Given the description of an element on the screen output the (x, y) to click on. 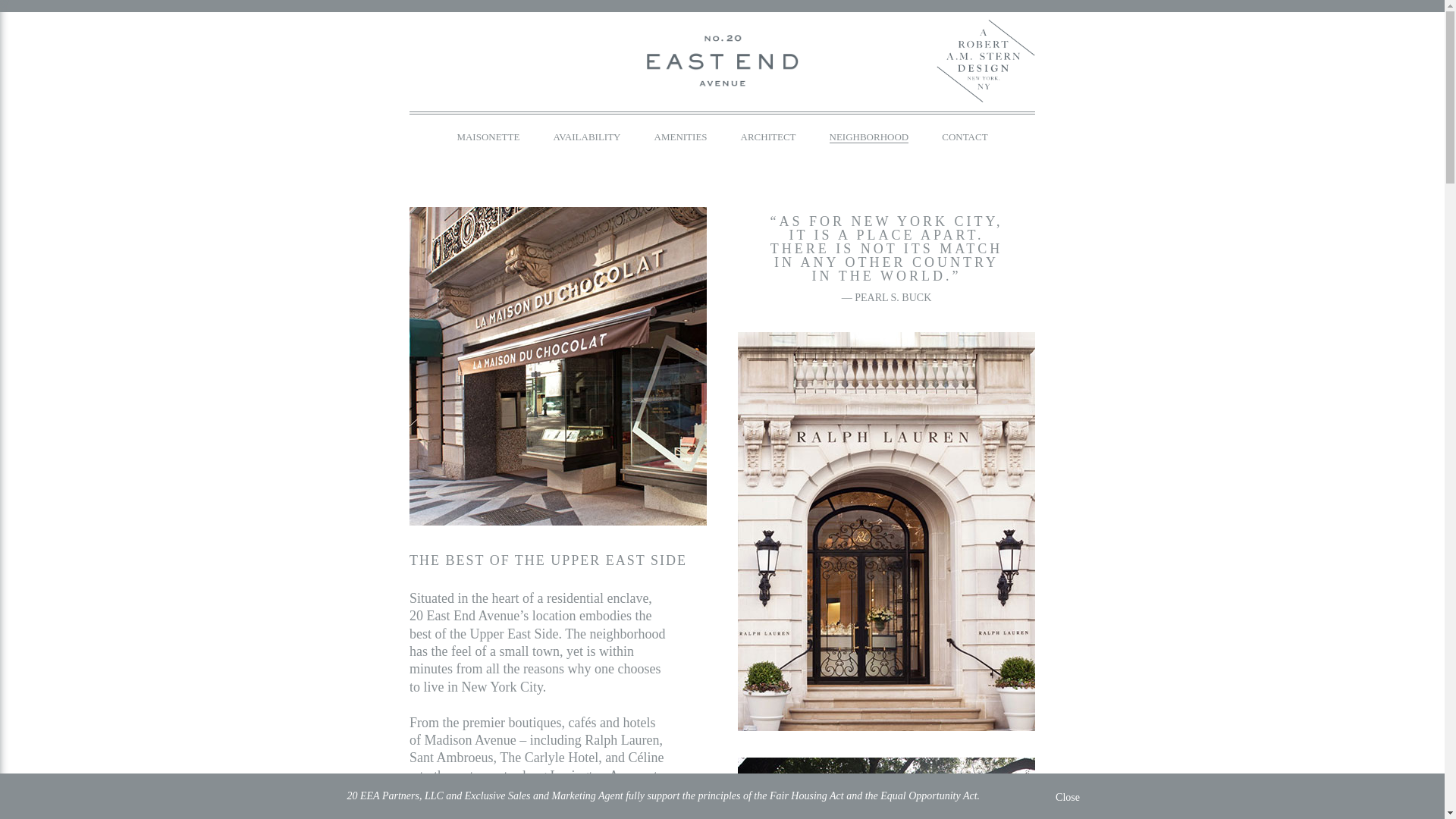
MAISONETTE Element type: text (487, 136)
Fair Housing Act and the Equal Opportunity Act. Element type: text (874, 795)
AMENITIES Element type: text (680, 136)
AVAILABILITY Element type: text (586, 136)
CONTACT Element type: text (964, 136)
ARCHITECT Element type: text (768, 136)
NEIGHBORHOOD Element type: text (869, 137)
